Given the description of an element on the screen output the (x, y) to click on. 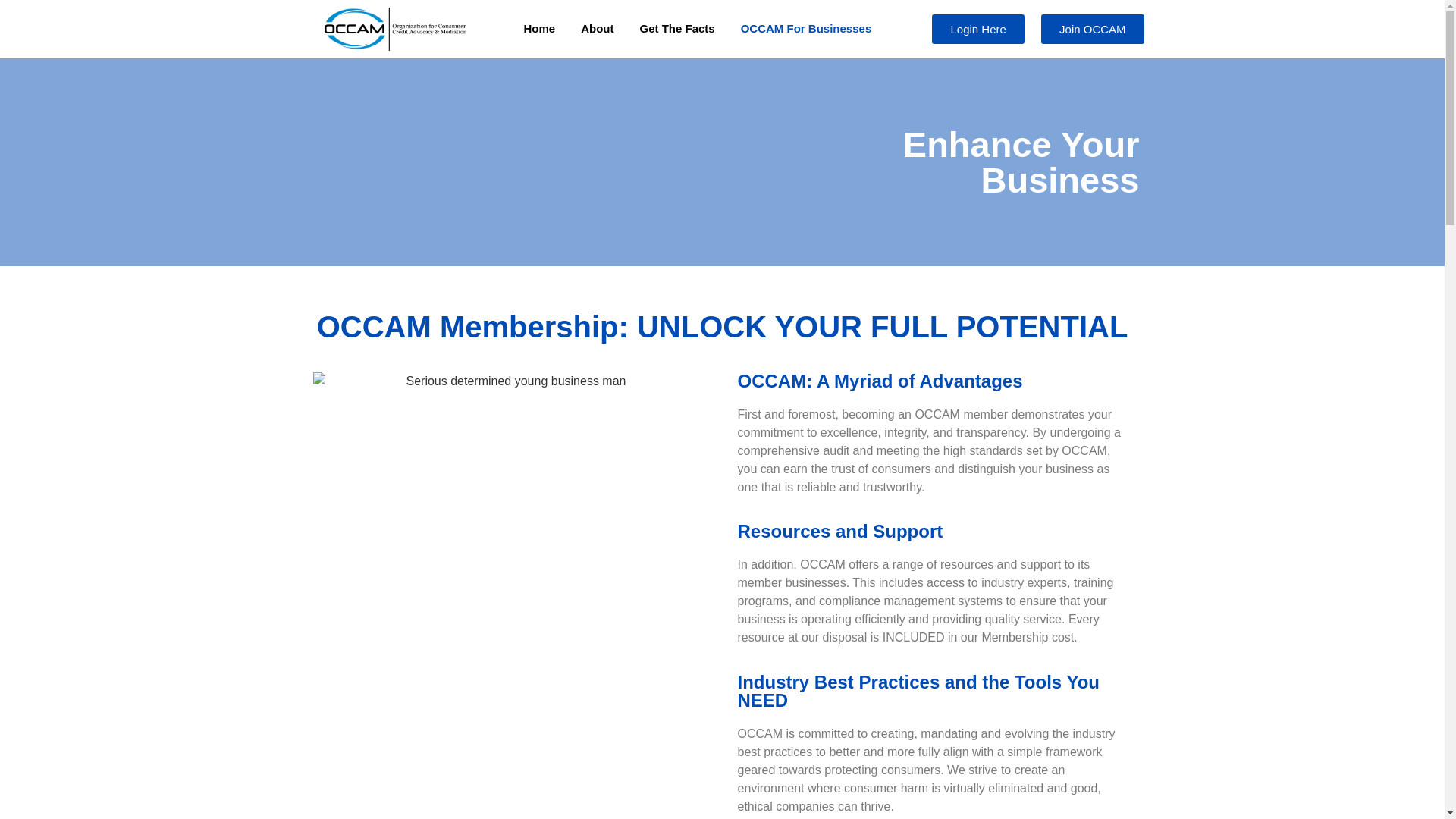
OCCAM For Businesses (806, 28)
Login Here (977, 29)
Join OCCAM (1092, 29)
Get The Facts (676, 28)
Home (539, 28)
About (596, 28)
